Given the description of an element on the screen output the (x, y) to click on. 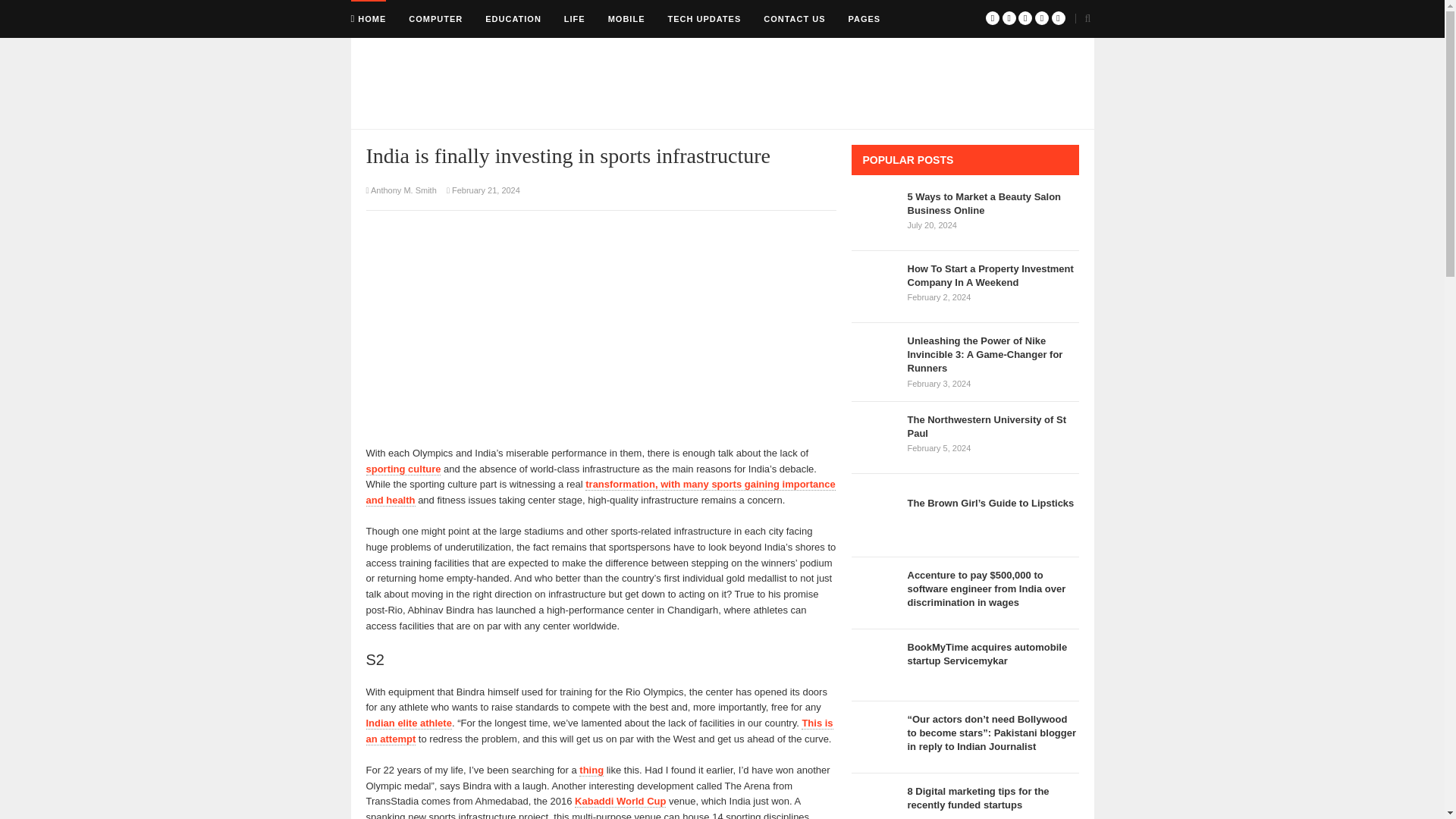
How To Start a Property Investment Company In A Weekend 5 (874, 286)
MOBILE (626, 18)
CONTACT US (793, 18)
TECH UPDATES (703, 18)
BookMyTime acquires automobile startup Servicemykar 10 (874, 664)
The Northwestern University of St Paul 7 (874, 437)
5 Ways to Market a Beauty Salon Business Online 4 (874, 214)
8 Digital marketing tips for the recently funded startups 12 (874, 801)
